Given the description of an element on the screen output the (x, y) to click on. 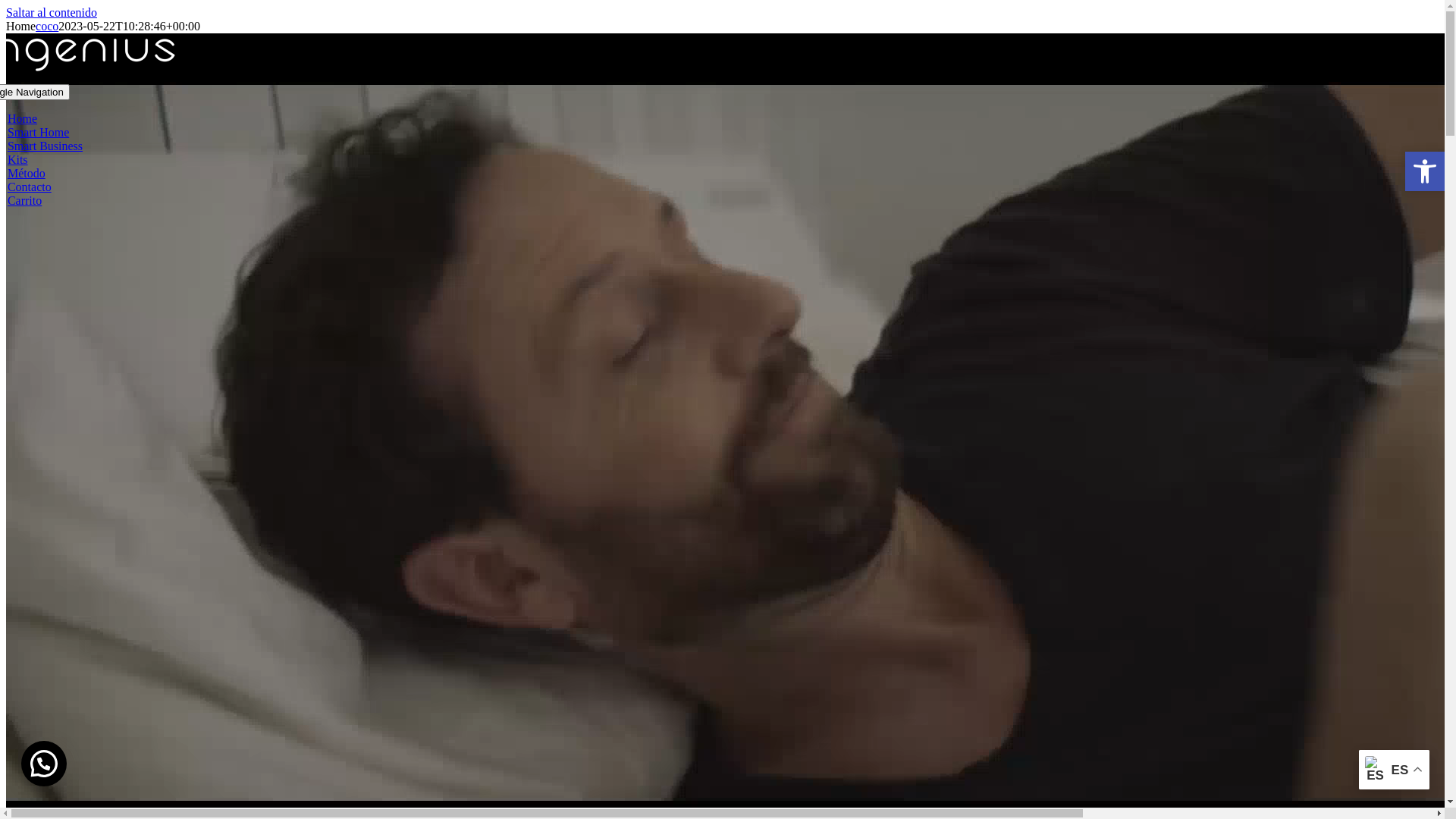
coco Element type: text (46, 25)
Saltar al contenido Element type: text (51, 12)
Contacto Element type: text (29, 186)
Smart Business Element type: text (44, 145)
Smart Home Element type: text (38, 131)
Home Element type: text (22, 118)
Abrir barra de herramientas
Herramientas de accesibilidad Element type: text (1424, 171)
Kits Element type: text (17, 159)
Carrito Element type: text (24, 200)
